Given the description of an element on the screen output the (x, y) to click on. 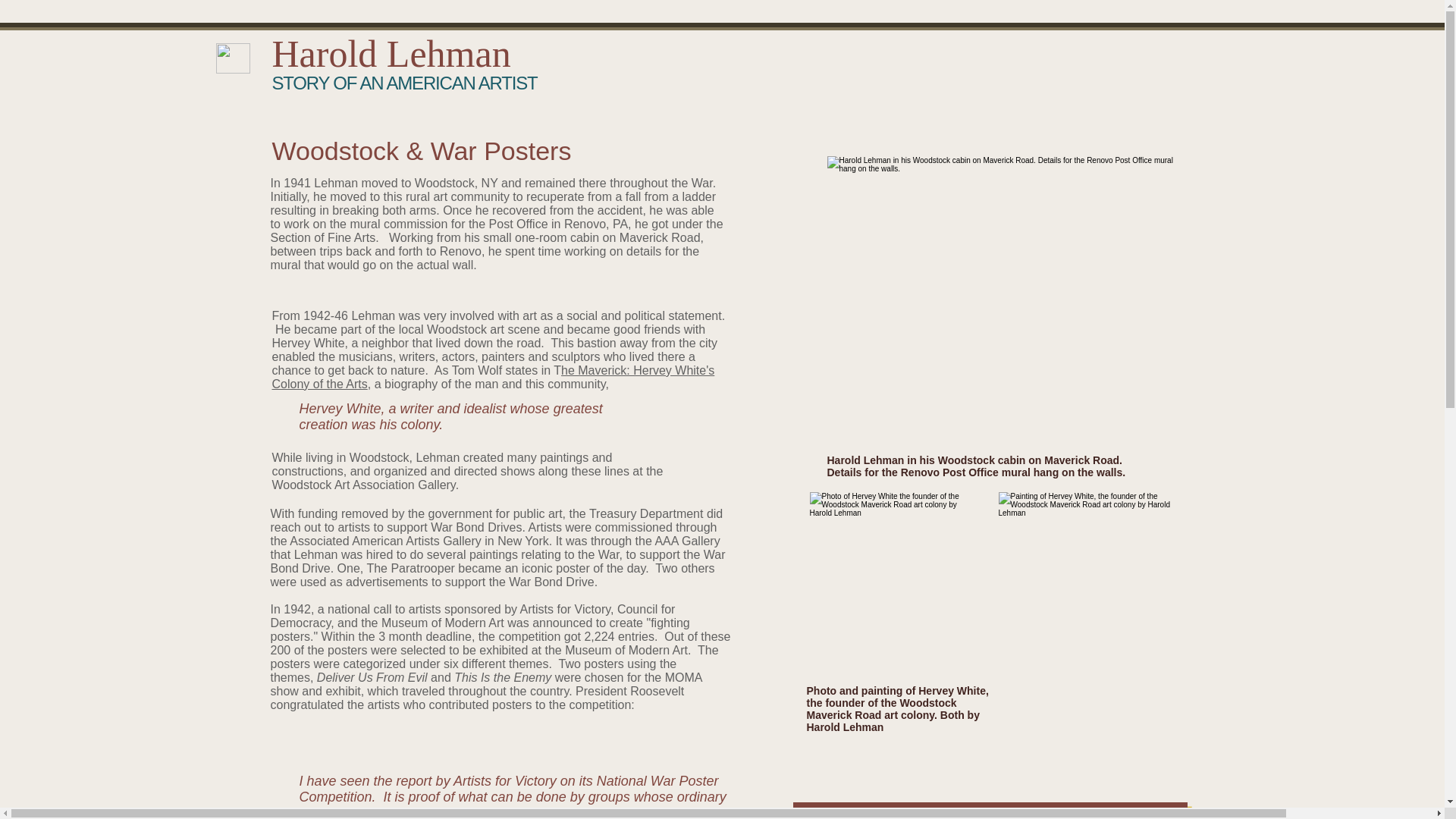
Harold Lehman (390, 53)
he Maverick: Hervey White's Colony of the Arts (492, 376)
